Given the description of an element on the screen output the (x, y) to click on. 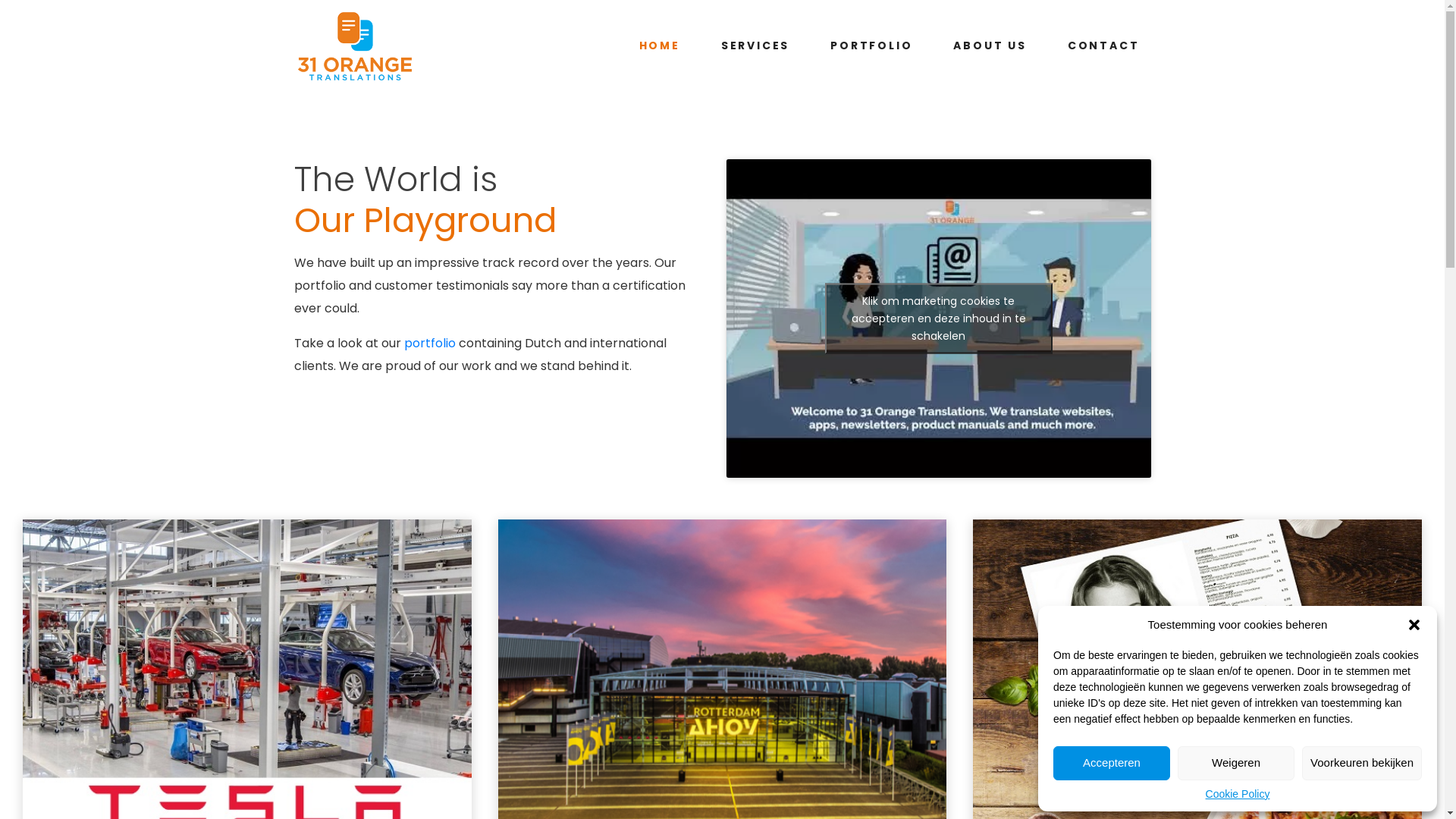
Cookie Policy Element type: text (1237, 793)
PORTFOLIO Element type: text (871, 45)
Weigeren Element type: text (1235, 763)
Accepteren Element type: text (1111, 763)
SERVICES Element type: text (755, 45)
CONTACT Element type: text (1103, 45)
HOME Element type: text (659, 45)
ABOUT US Element type: text (989, 45)
Voorkeuren bekijken Element type: text (1361, 763)
portfolio Element type: text (429, 342)
